Given the description of an element on the screen output the (x, y) to click on. 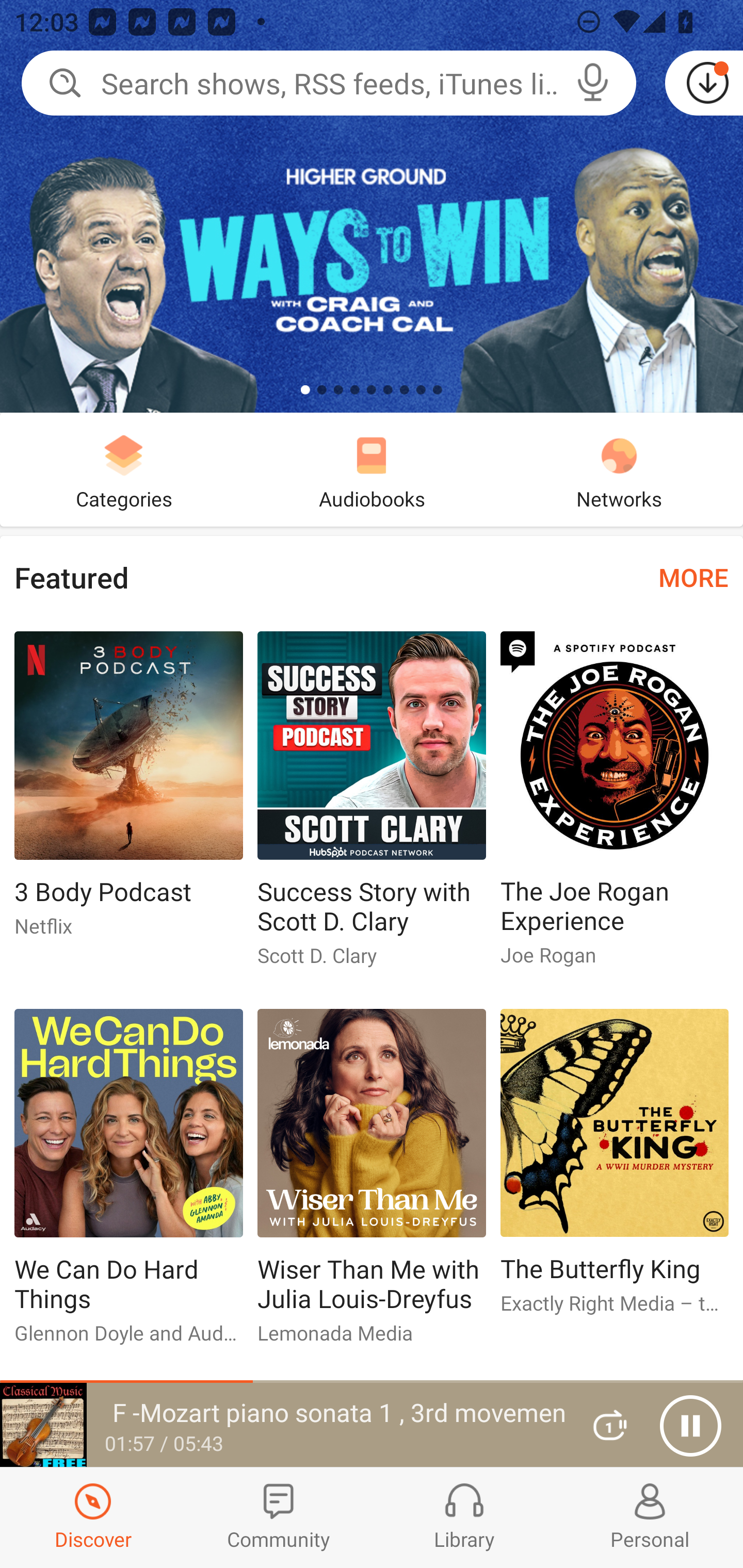
Ways To Win (371, 206)
Categories (123, 469)
Audiobooks (371, 469)
Networks (619, 469)
MORE (693, 576)
3 Body Podcast 3 Body Podcast Netflix (128, 792)
Pause (690, 1425)
Discover (92, 1517)
Community (278, 1517)
Library (464, 1517)
Profiles and Settings Personal (650, 1517)
